Given the description of an element on the screen output the (x, y) to click on. 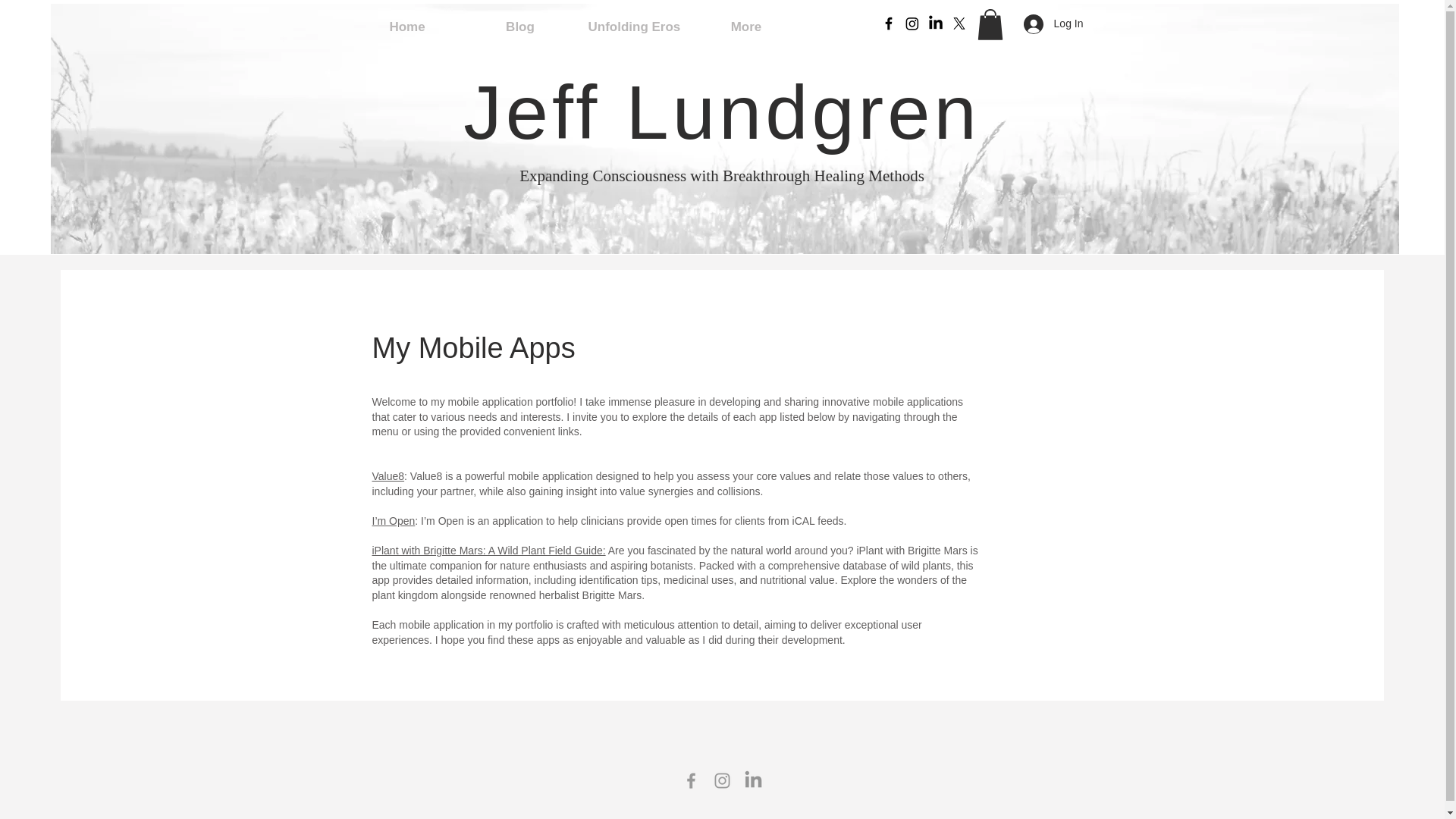
iPlant with Brigitte Mars: A Wild Plant Field Guide: (488, 550)
Value8 (387, 476)
Home (406, 27)
Unfolding Eros (632, 27)
Jeff Lundgren (721, 111)
Log In (1053, 23)
Blog (520, 27)
